Given the description of an element on the screen output the (x, y) to click on. 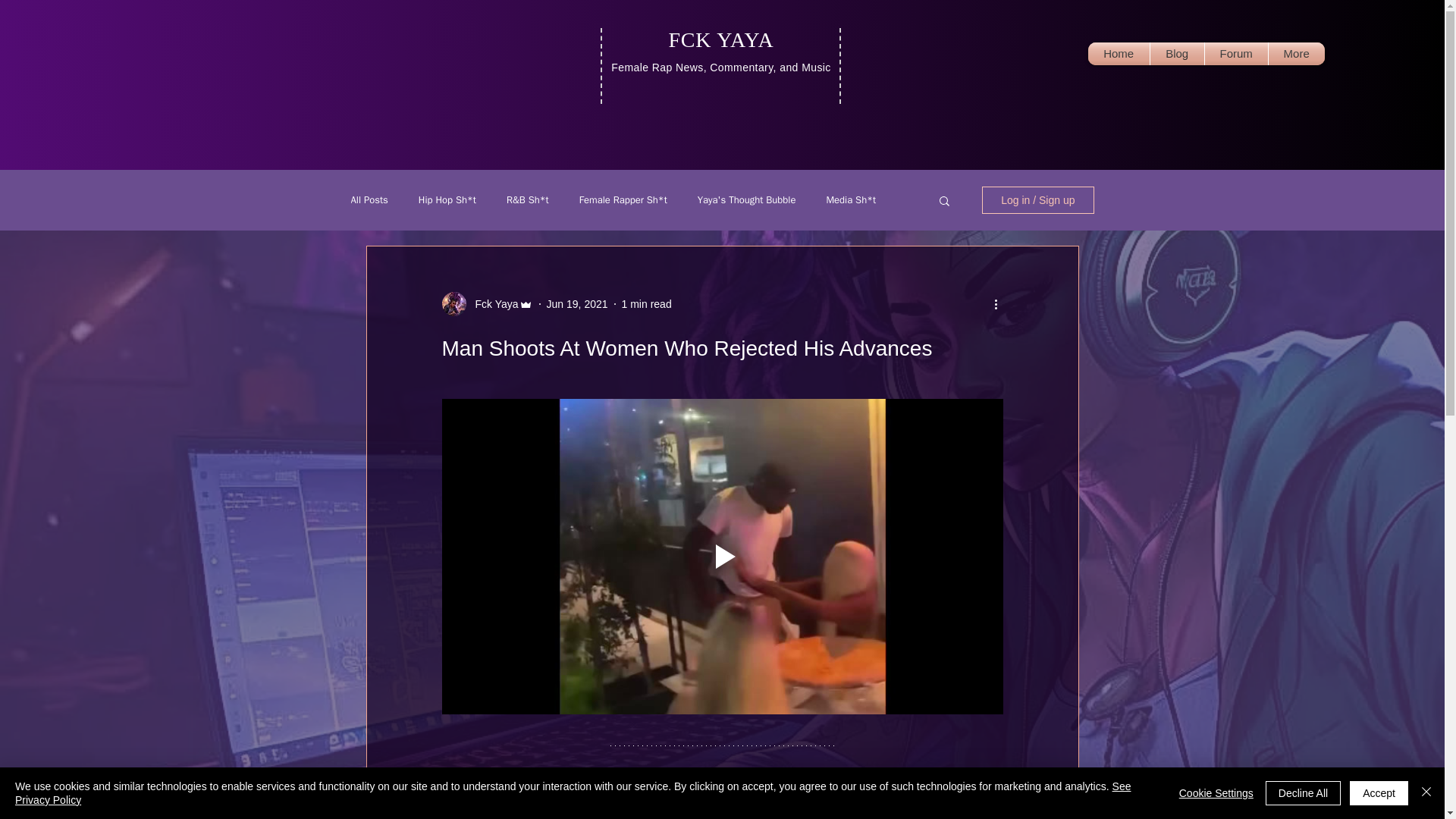
Forum (1236, 53)
1 min read (646, 303)
Fck Yaya (486, 303)
Home (1118, 53)
Blog (1177, 53)
Yaya's Thought Bubble (746, 200)
Fck Yaya (491, 303)
All Posts (368, 200)
Jun 19, 2021 (721, 51)
